Given the description of an element on the screen output the (x, y) to click on. 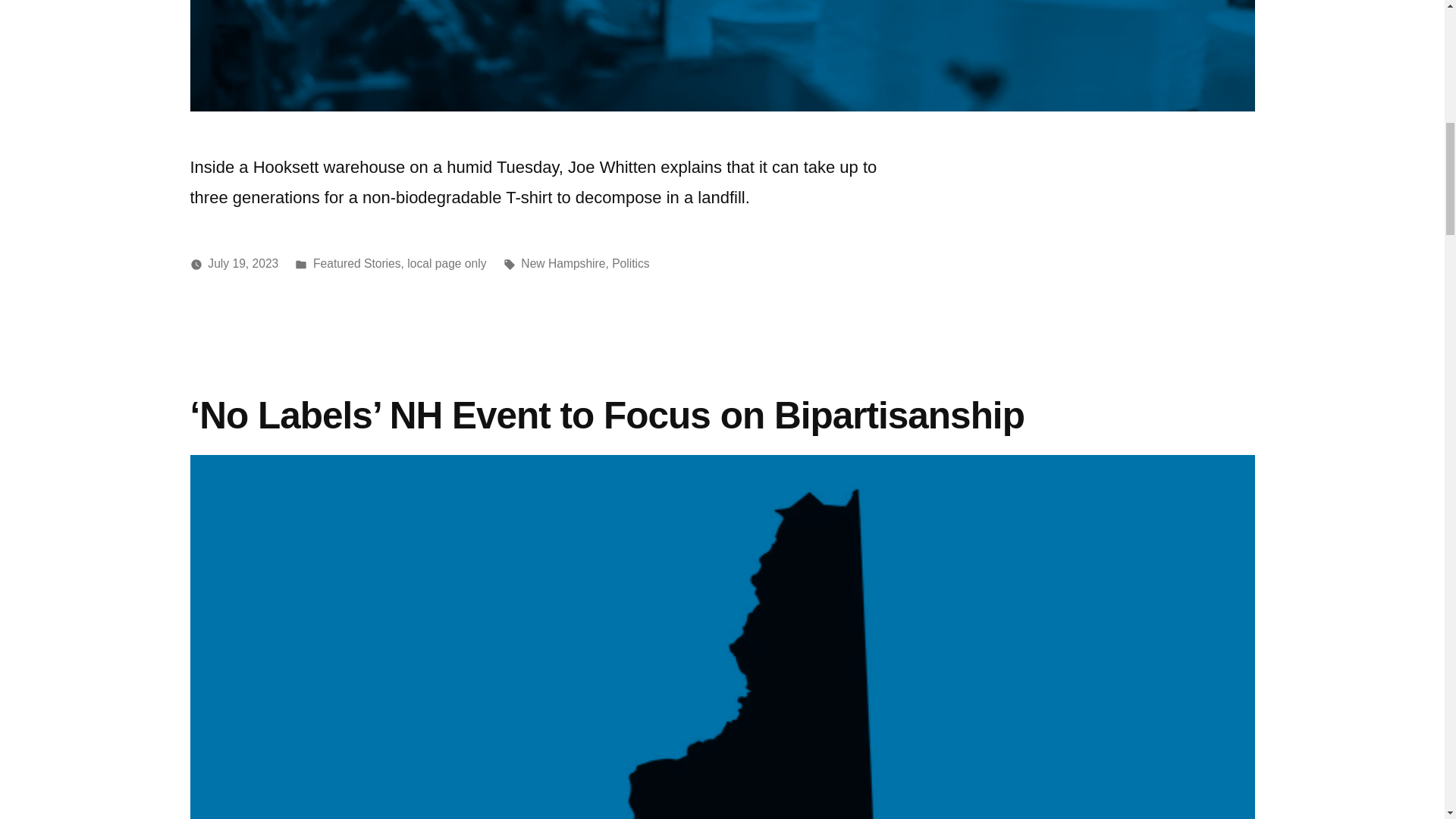
Politics (630, 263)
New Hampshire (563, 263)
July 19, 2023 (243, 263)
Featured Stories (357, 263)
local page only (446, 263)
